Given the description of an element on the screen output the (x, y) to click on. 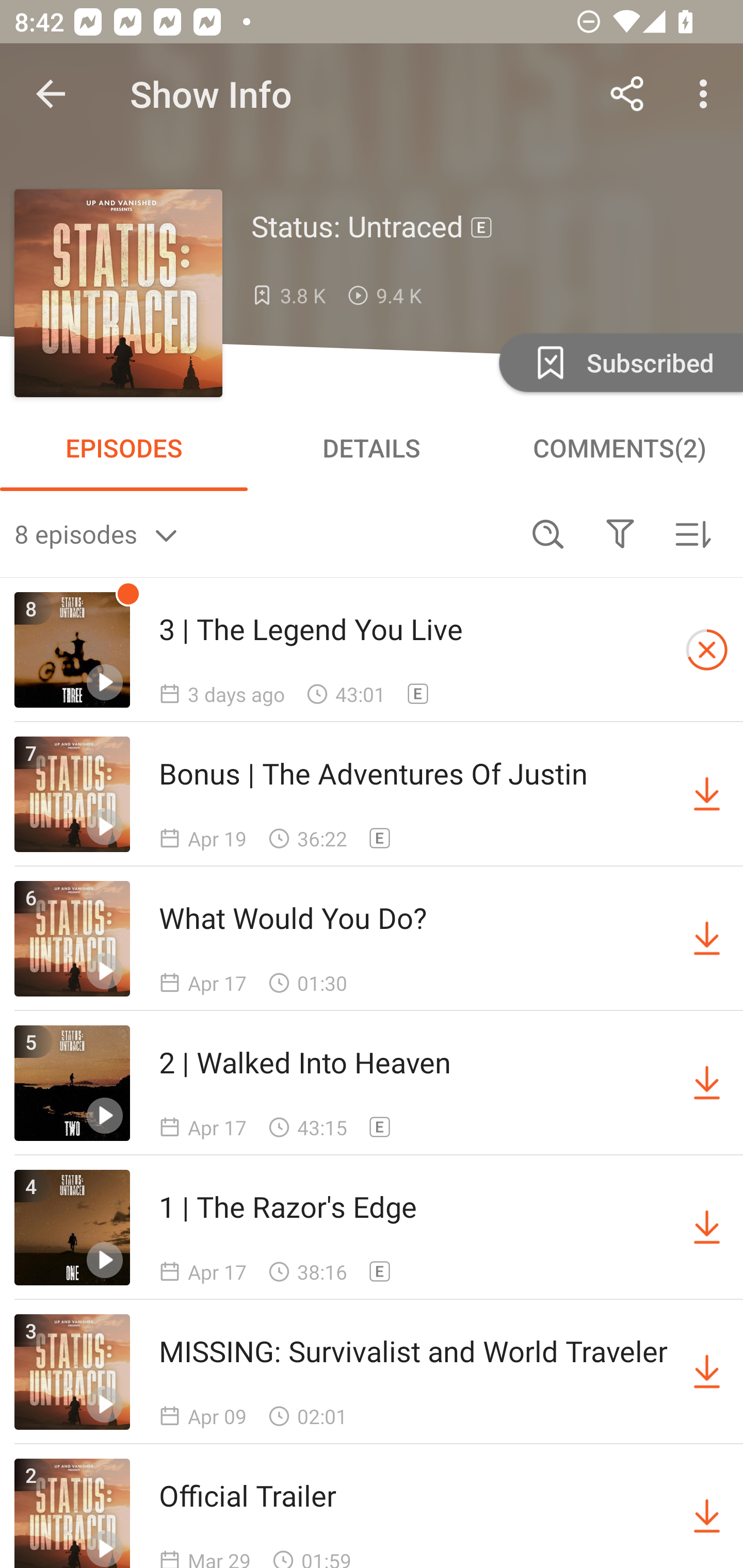
Navigate up (50, 93)
Share (626, 93)
More options (706, 93)
Unsubscribe Subscribed (619, 361)
EPISODES (123, 447)
DETAILS (371, 447)
COMMENTS(2) (619, 447)
8 episodes  (262, 533)
 Search (547, 533)
 (619, 533)
 Sorted by newest first (692, 533)
Cancel Downloading (706, 649)
Download (706, 793)
Download (706, 939)
Download (706, 1083)
Download (706, 1227)
Download (706, 1371)
Download (706, 1513)
